Given the description of an element on the screen output the (x, y) to click on. 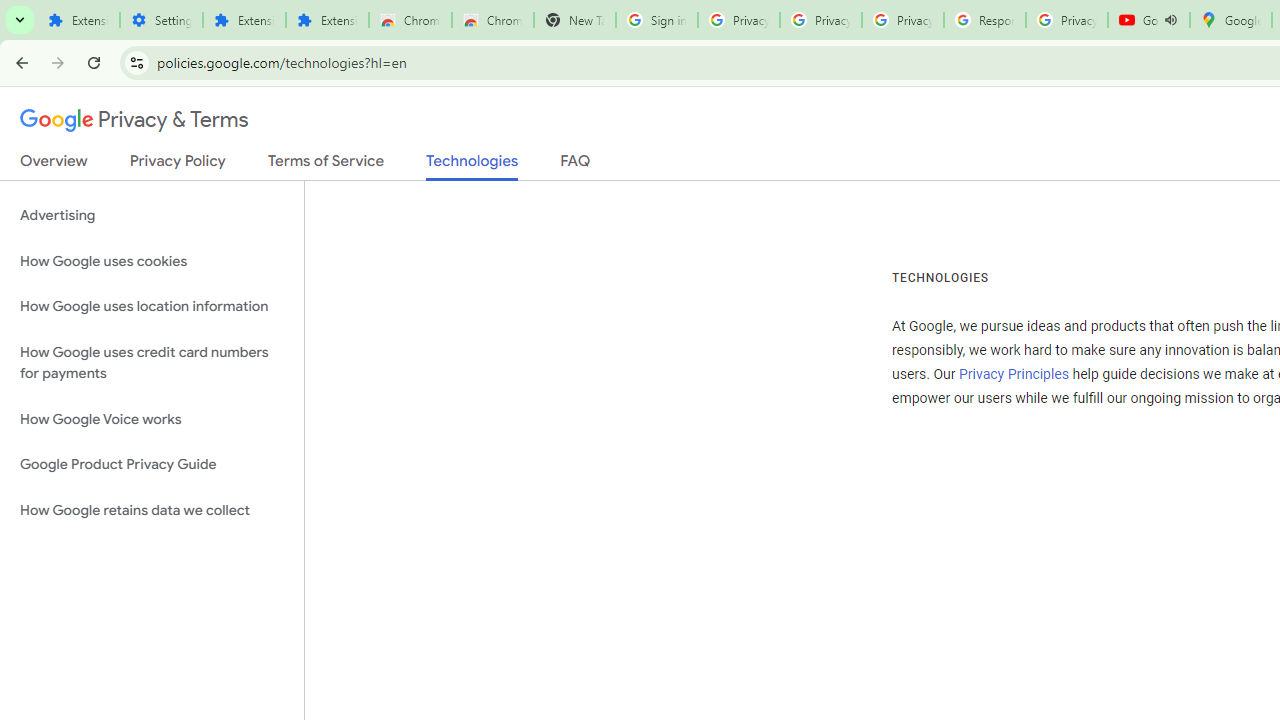
How Google retains data we collect (152, 510)
Chrome Web Store - Themes (492, 20)
